Given the description of an element on the screen output the (x, y) to click on. 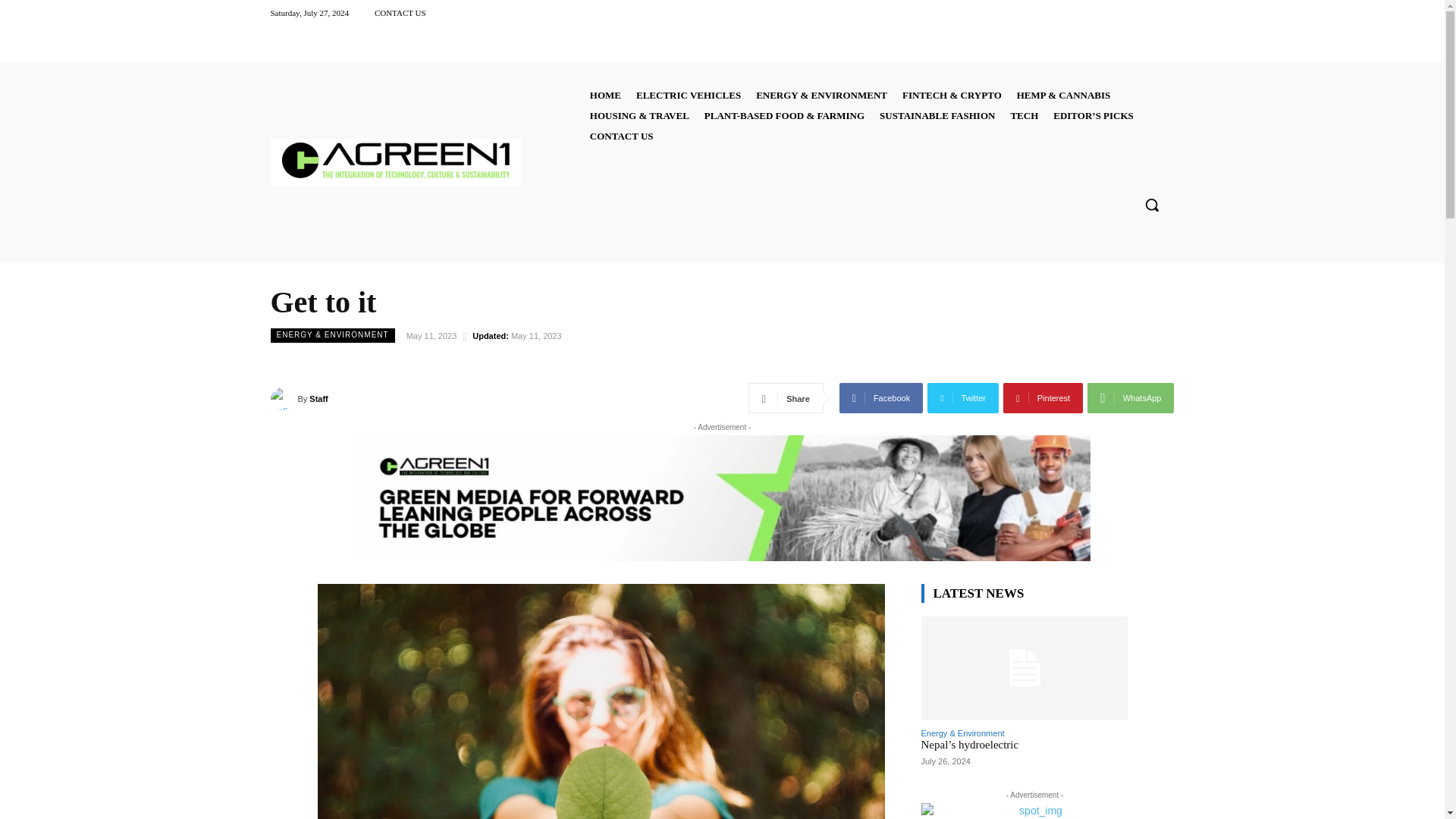
Staff (283, 398)
Facebook (881, 398)
CONTACT US (400, 12)
